Given the description of an element on the screen output the (x, y) to click on. 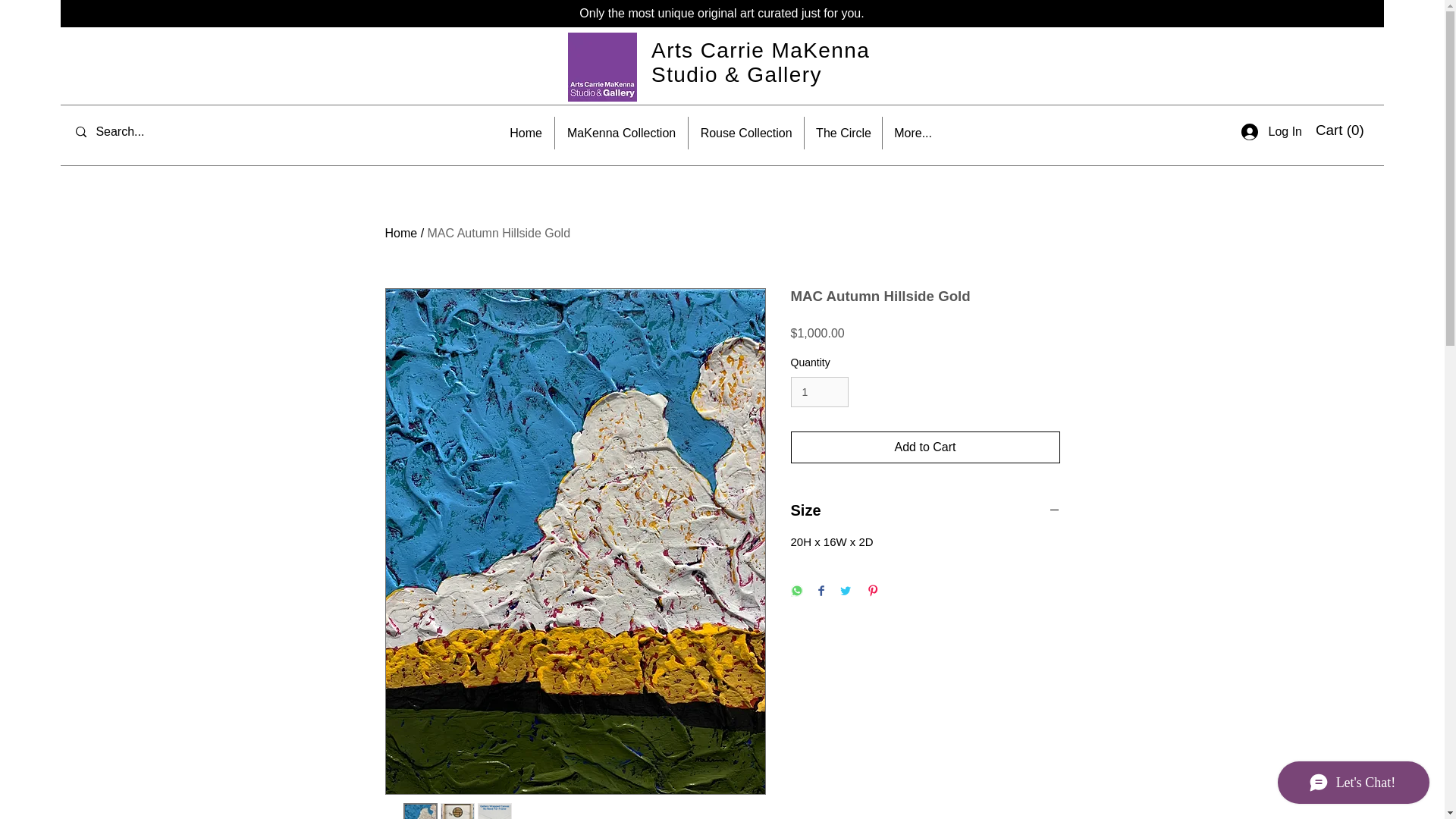
ArtsCarrieMaKenna-SQ logo-2019.jpg (602, 66)
Log In (1271, 131)
The Circle (843, 133)
Home (401, 232)
MaKenna Collection (620, 133)
MAC Autumn Hillside Gold (499, 232)
1 (818, 391)
Arts Carrie MaKenna (759, 50)
Home (525, 133)
Rouse Collection (745, 133)
